Given the description of an element on the screen output the (x, y) to click on. 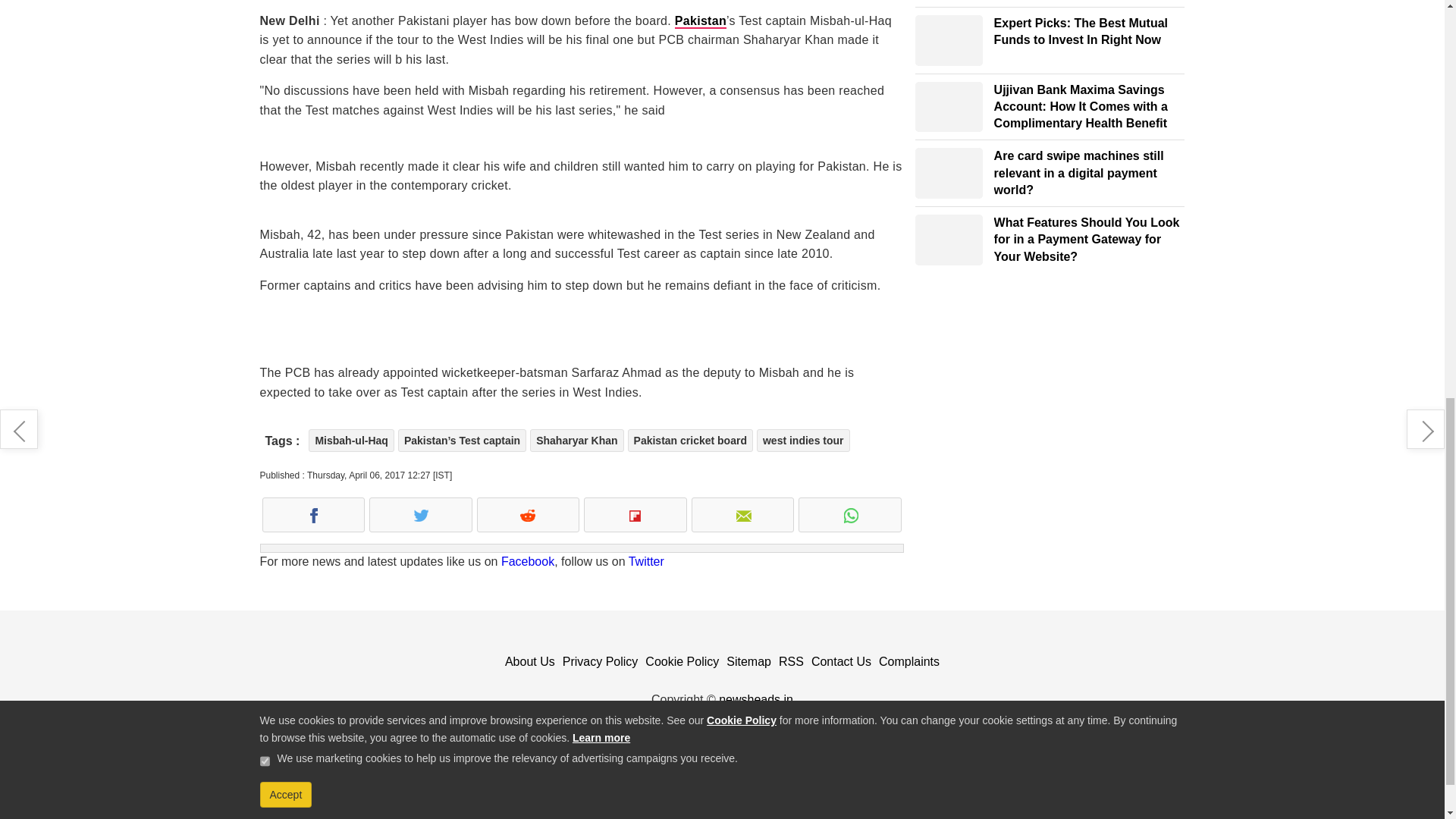
Pakistan cricket board (689, 440)
west indies tour (803, 440)
Pakistan (700, 21)
Expert Picks: The Best Mutual Funds to Invest In Right Now (948, 40)
Shaharyar Khan (576, 440)
Misbah-ul-Haq (350, 440)
